Given the description of an element on the screen output the (x, y) to click on. 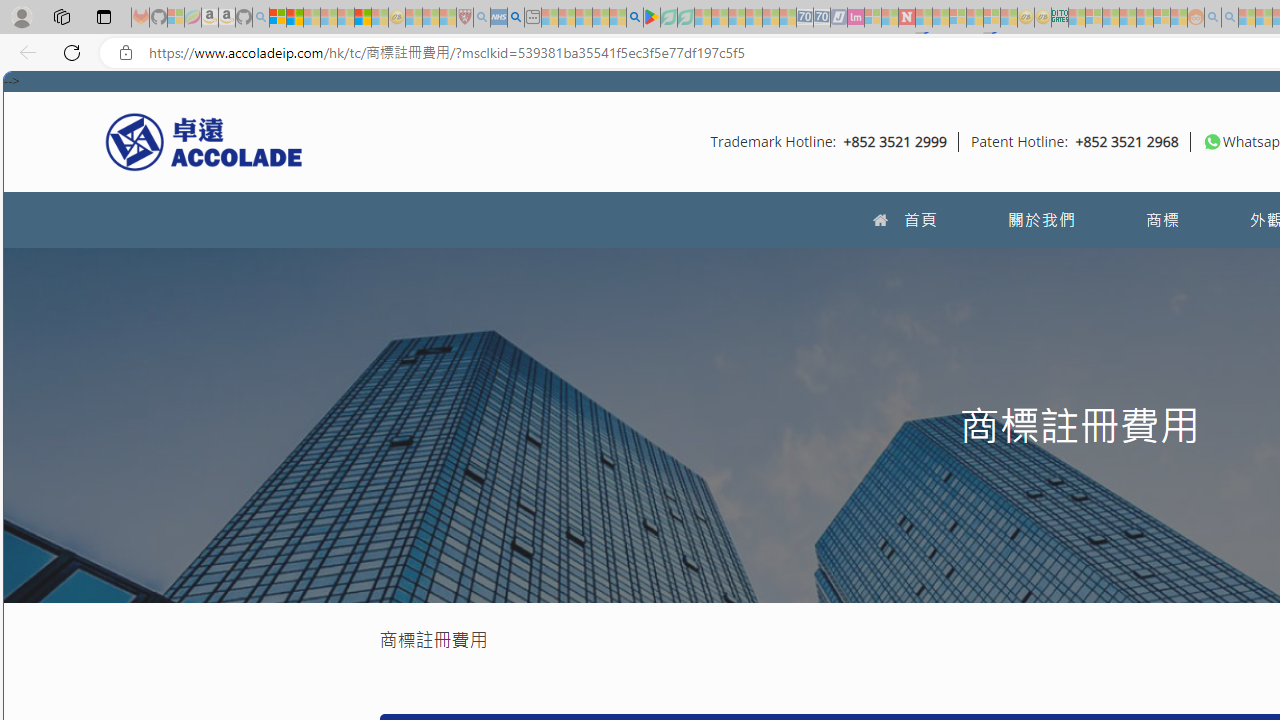
Cheap Hotels - Save70.com - Sleeping (821, 17)
Utah sues federal government - Search - Sleeping (1229, 17)
Accolade IP HK Logo (203, 141)
MSNBC - MSN - Sleeping (1076, 17)
utah sues federal government - Search (515, 17)
To get missing image descriptions, open the context menu. (1211, 141)
Microsoft-Report a Concern to Bing - Sleeping (175, 17)
New tab - Sleeping (532, 17)
